Given the description of an element on the screen output the (x, y) to click on. 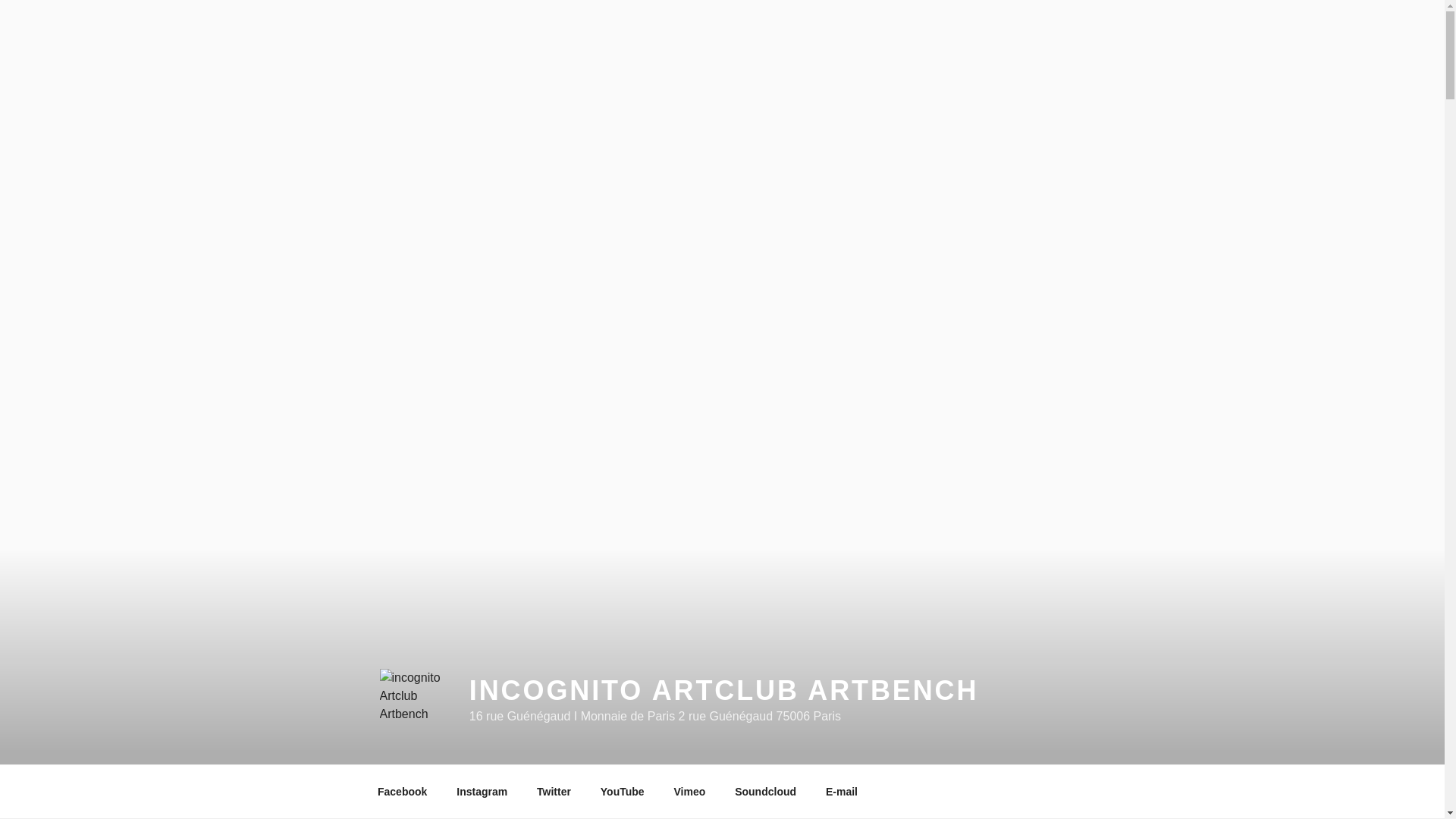
Descendre au contenu (1082, 791)
E-mail (841, 791)
Vimeo (690, 791)
Instagram (482, 791)
INCOGNITO ARTCLUB ARTBENCH (723, 689)
Descendre au contenu (1082, 791)
Twitter (554, 791)
Soundcloud (765, 791)
Facebook (401, 791)
YouTube (622, 791)
